Given the description of an element on the screen output the (x, y) to click on. 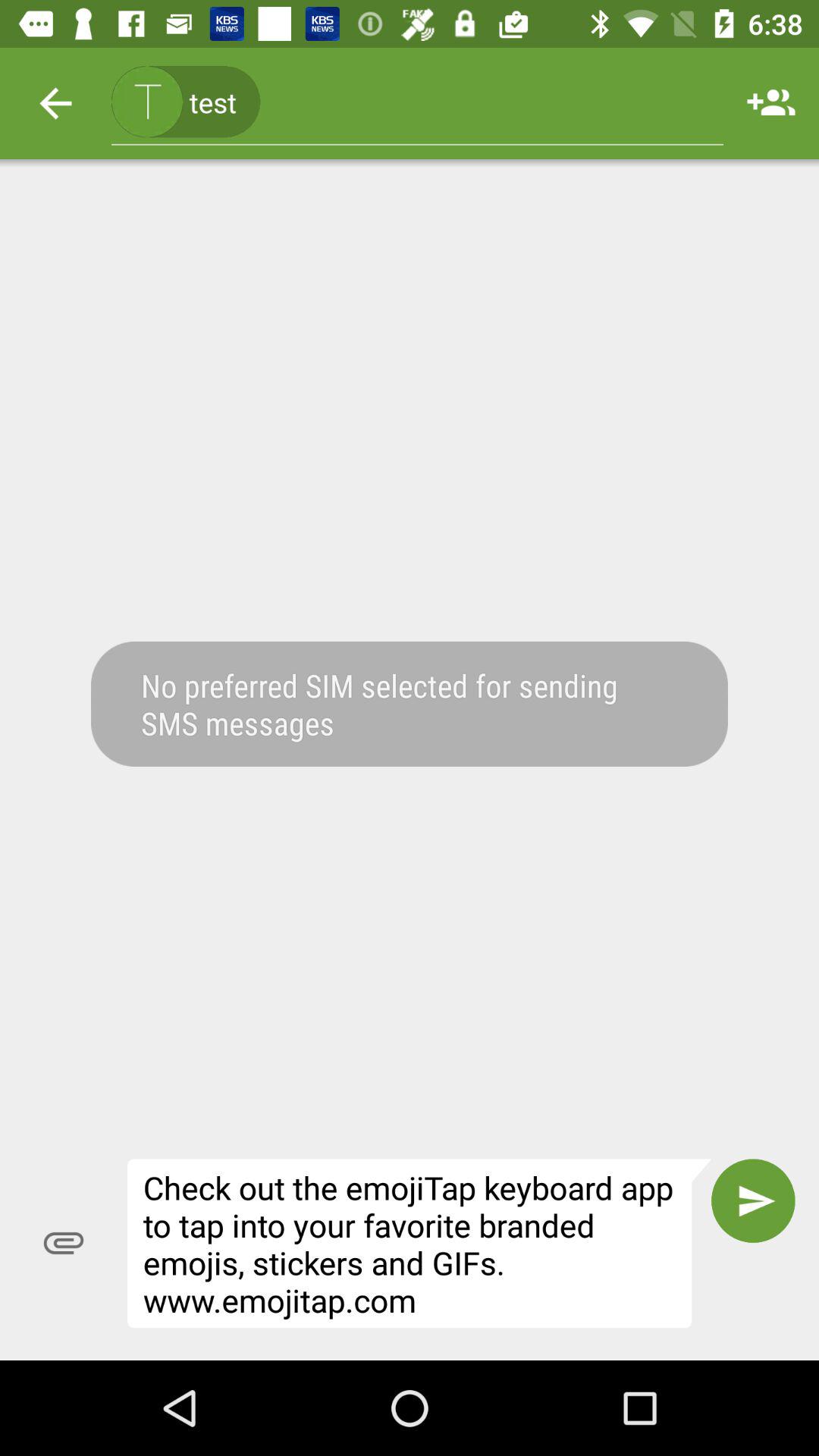
turn off the icon at the bottom left corner (63, 1243)
